Given the description of an element on the screen output the (x, y) to click on. 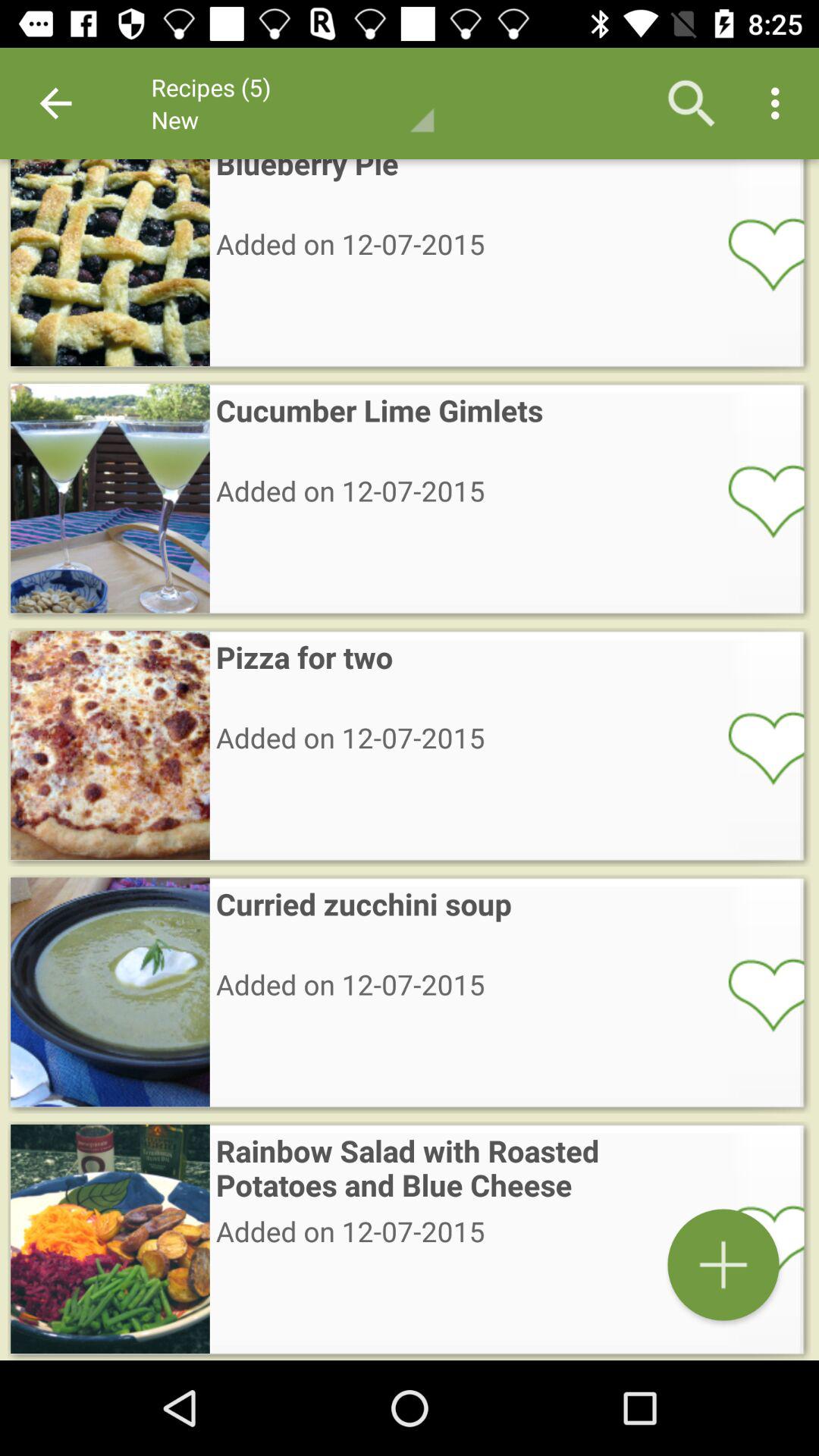
add rainbow salad with roasted potatoes and blue cheese (723, 1264)
